Given the description of an element on the screen output the (x, y) to click on. 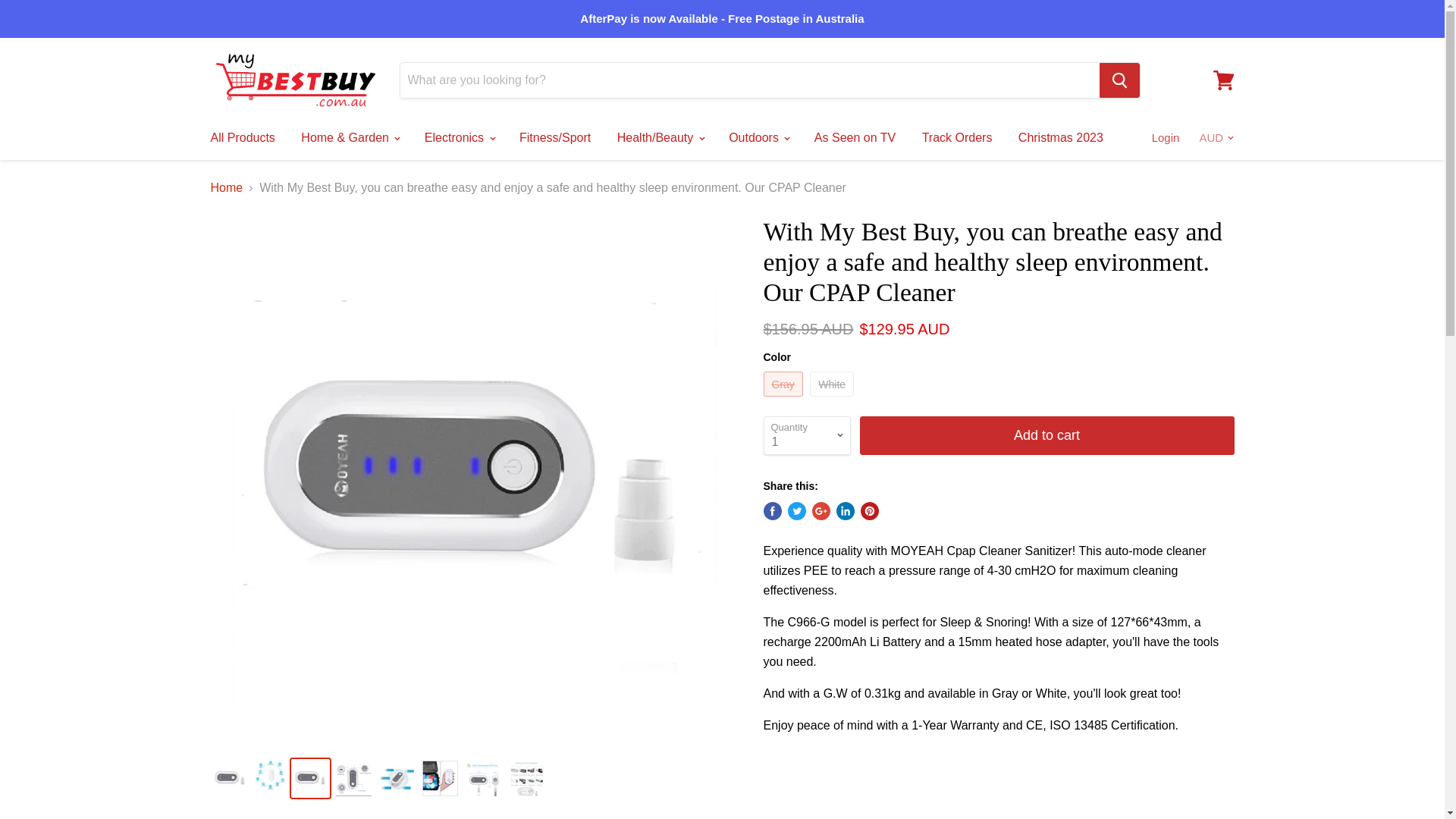
Electronics (459, 137)
View cart (1223, 80)
All Products (241, 137)
